Given the description of an element on the screen output the (x, y) to click on. 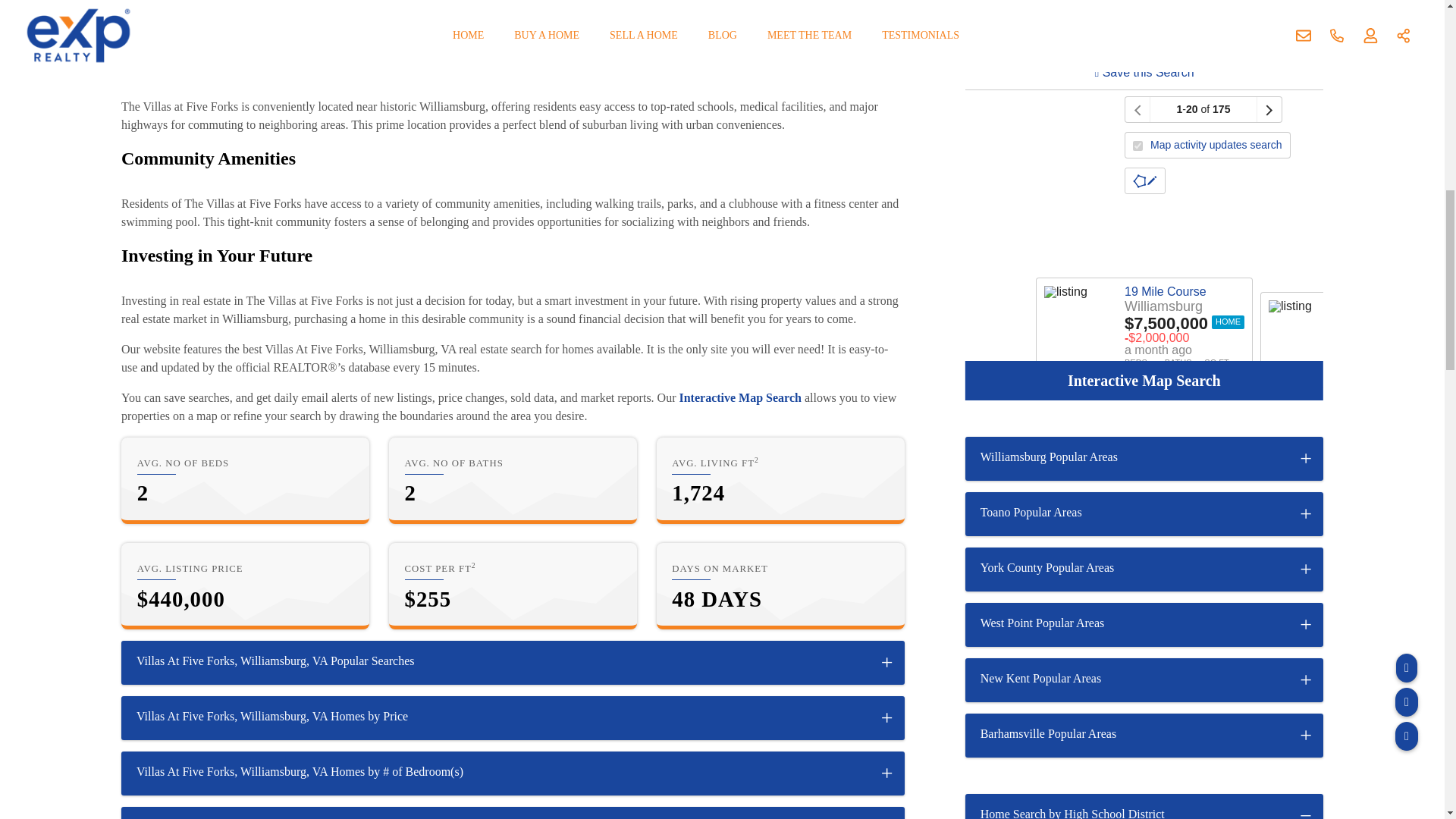
Cost Per Sqaure Foot (512, 586)
Villas At Five Forks, Williamsburg, VA Popular Searches (512, 662)
Days on Market (779, 586)
Average Number of Beds (244, 480)
Average Living Square Feet (779, 480)
Average Number of Baths (512, 480)
Average Listing Price (244, 586)
